Given the description of an element on the screen output the (x, y) to click on. 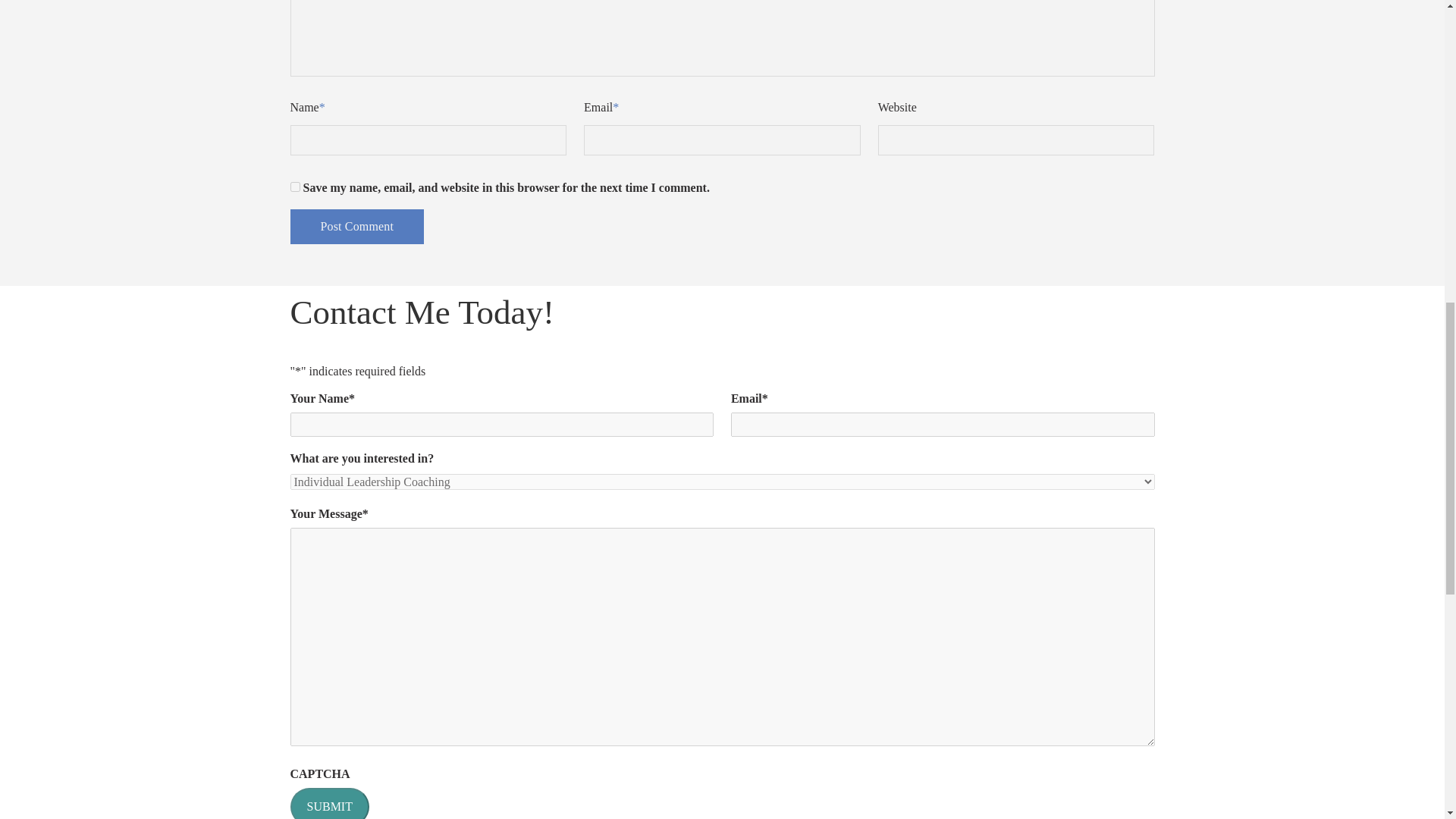
yes (294, 186)
Post Comment (356, 226)
Submit (328, 803)
